Given the description of an element on the screen output the (x, y) to click on. 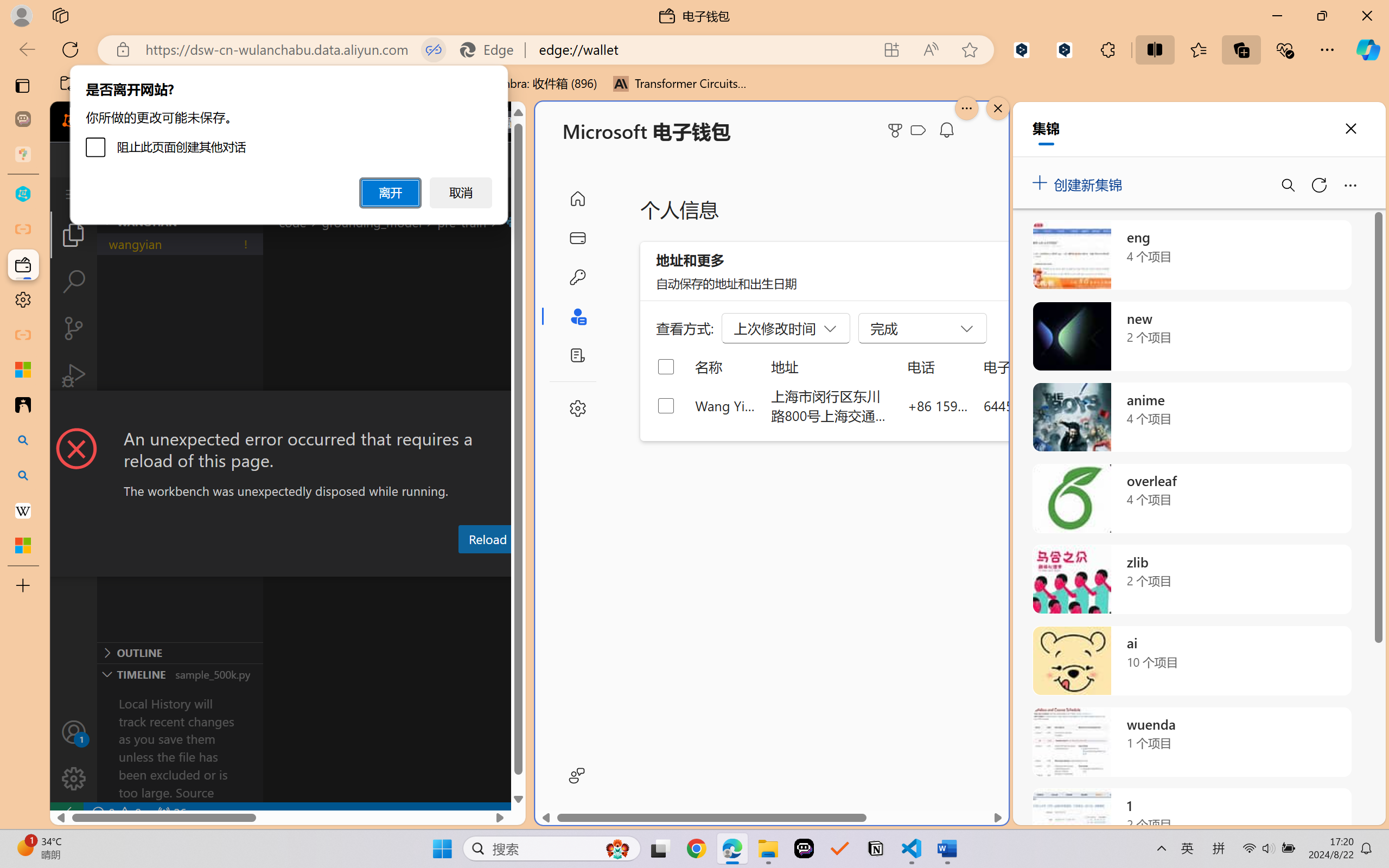
Problems (Ctrl+Shift+M) (308, 565)
